Given the description of an element on the screen output the (x, y) to click on. 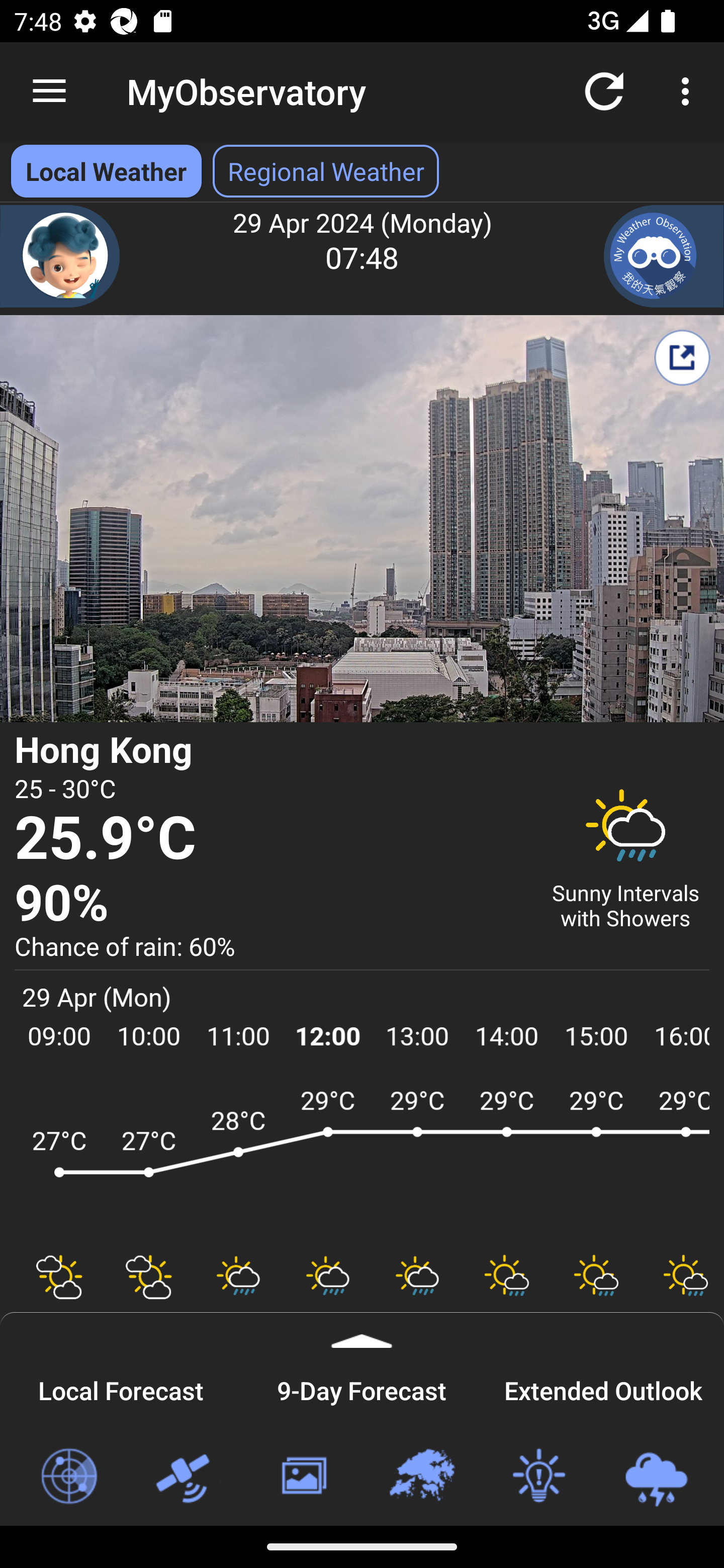
Navigate up (49, 91)
Refresh (604, 90)
More options (688, 90)
Local Weather Local Weather selected (105, 170)
Regional Weather Select Regional Weather (325, 170)
Chatbot (60, 256)
My Weather Observation (663, 256)
Share My Weather Report (681, 357)
25.9°C Temperature
25.9 degree Celsius (270, 839)
90% Relative Humidity
90 percent (270, 903)
ARWF (361, 1160)
Expand (362, 1330)
Local Forecast (120, 1387)
Extended Outlook (603, 1387)
Radar Images (68, 1476)
Satellite Images (185, 1476)
Weather Photos (302, 1476)
Regional Weather (420, 1476)
Weather Tips (537, 1476)
Loc-based Rain & Lightning Forecast (655, 1476)
